Given the description of an element on the screen output the (x, y) to click on. 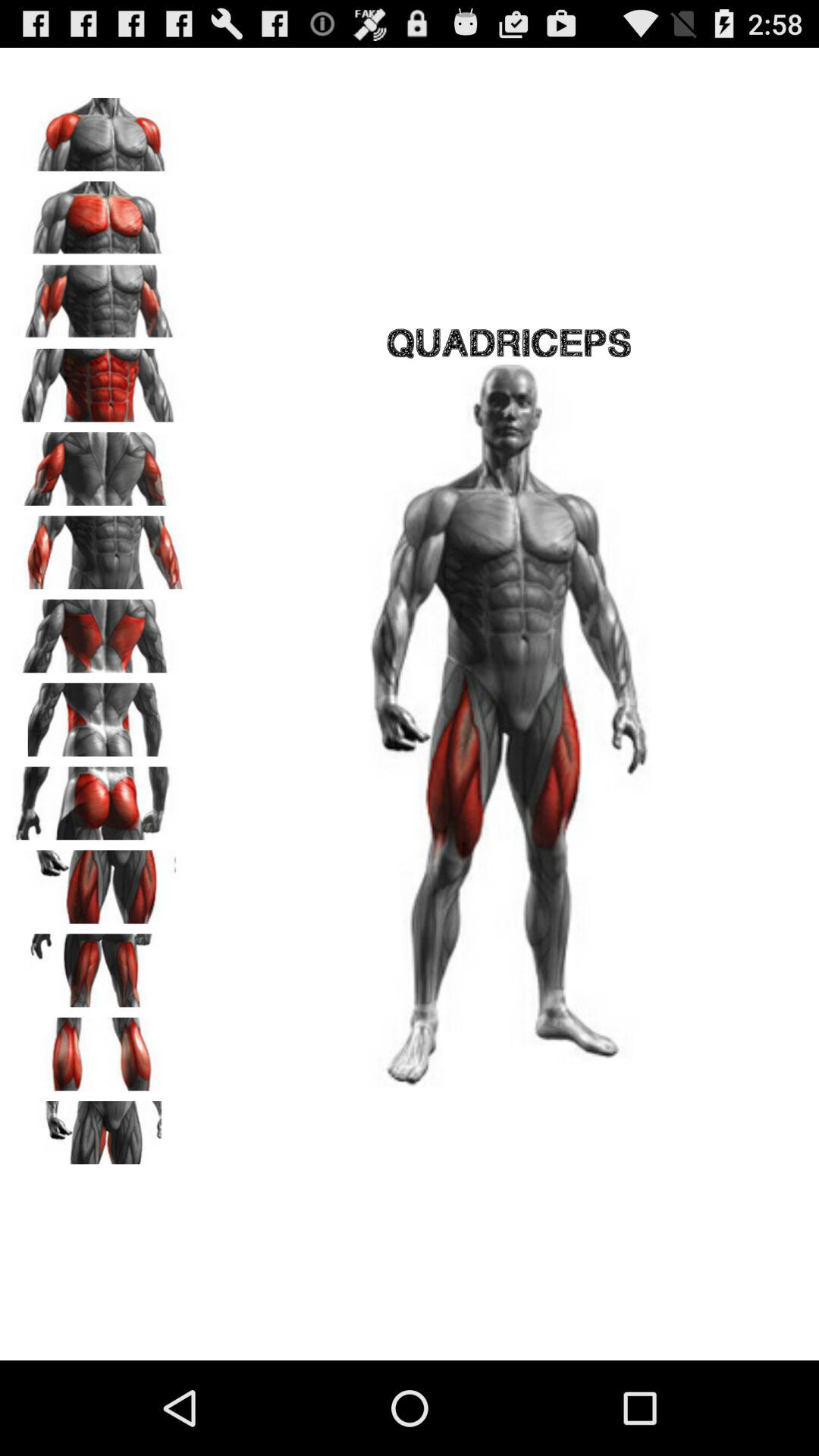
make selection (99, 798)
